Given the description of an element on the screen output the (x, y) to click on. 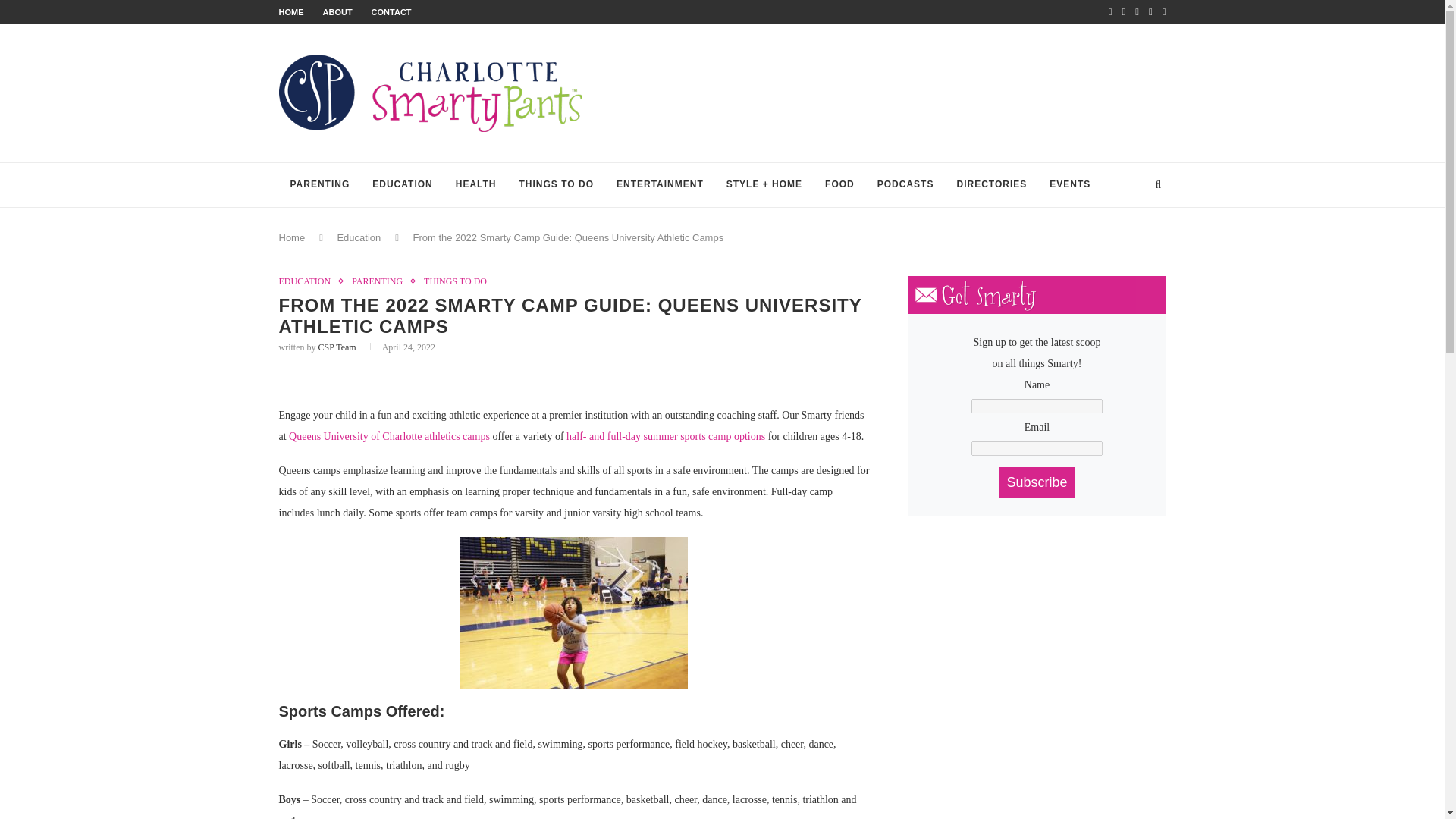
PARENTING (320, 185)
ABOUT (337, 11)
Home (292, 237)
THINGS TO DO (556, 185)
ENTERTAINMENT (659, 185)
CONTACT (391, 11)
Education (358, 237)
HOME (291, 11)
EVENTS (1070, 185)
PARENTING (381, 281)
CSP Team (337, 347)
THINGS TO DO (454, 281)
FOOD (839, 185)
EDUCATION (402, 185)
PODCASTS (905, 185)
